Given the description of an element on the screen output the (x, y) to click on. 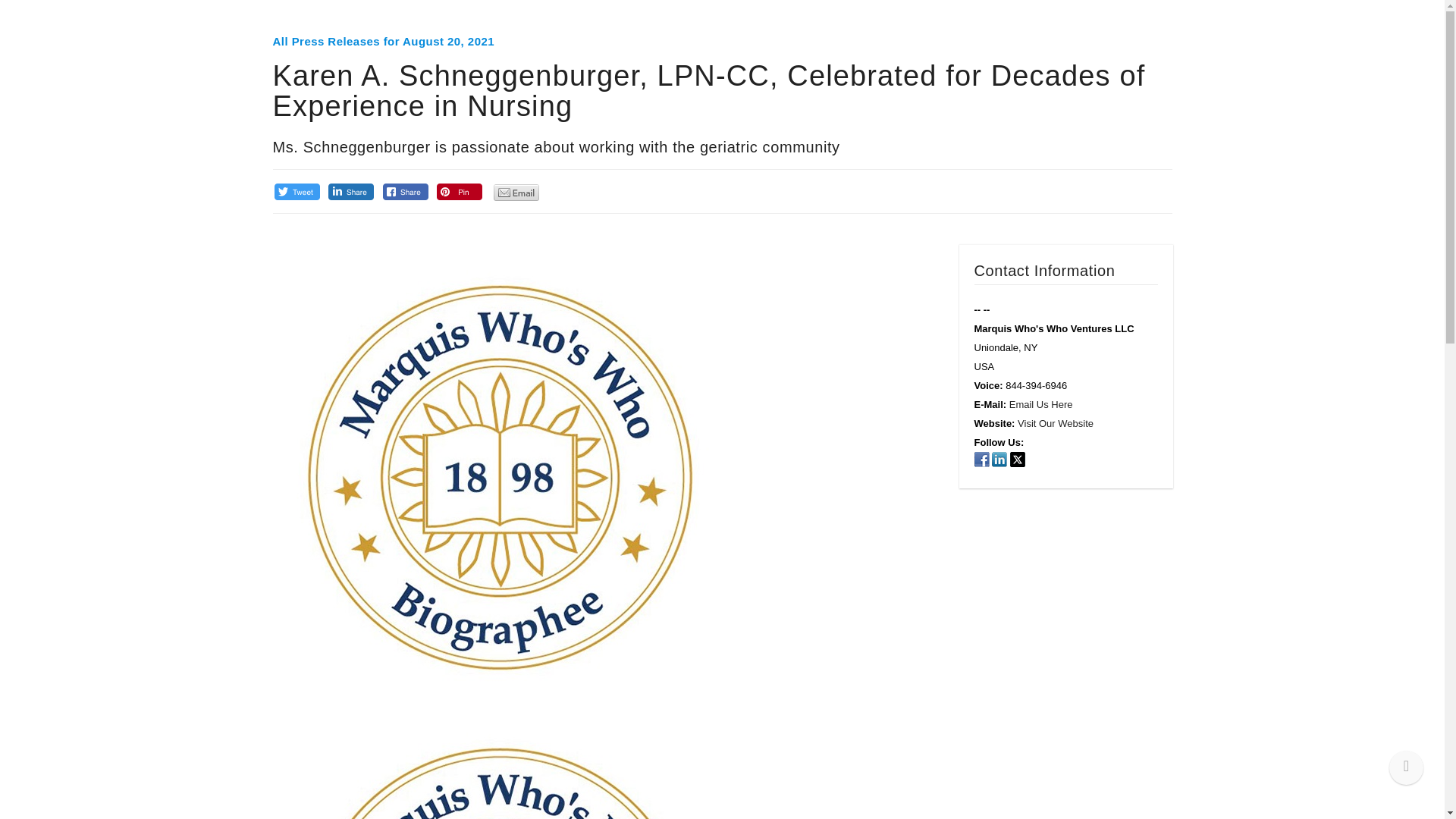
Email Us Here (1041, 404)
Visit Our Website (1055, 423)
All Press Releases for August 20, 2021 (384, 41)
